Given the description of an element on the screen output the (x, y) to click on. 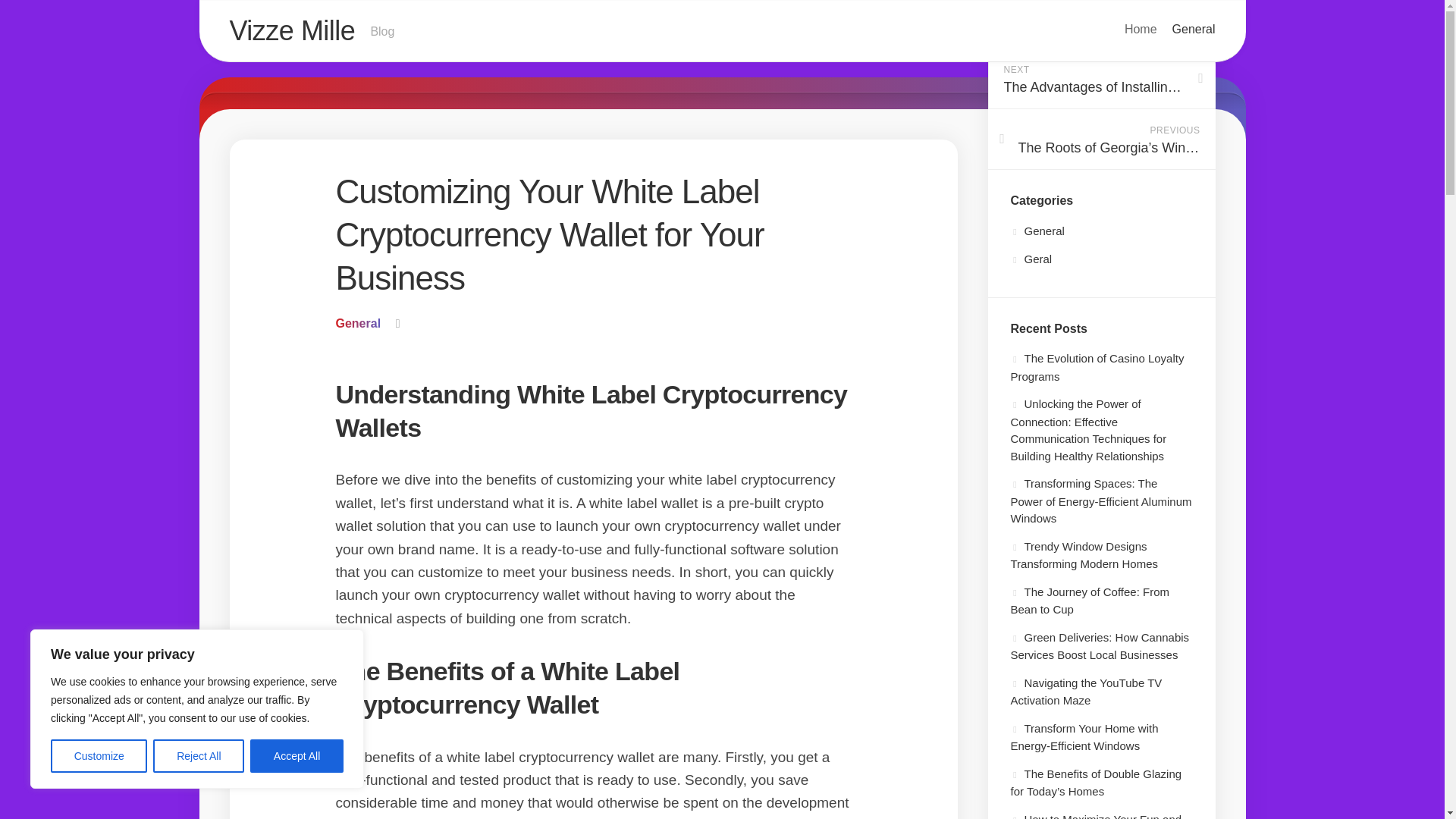
General (357, 323)
Customize (98, 756)
The Evolution of Casino Loyalty Programs (1096, 367)
General (1037, 230)
Accept All (296, 756)
Vizze Mille (291, 31)
Geral (1030, 258)
Reject All (198, 756)
General (1193, 29)
